Given the description of an element on the screen output the (x, y) to click on. 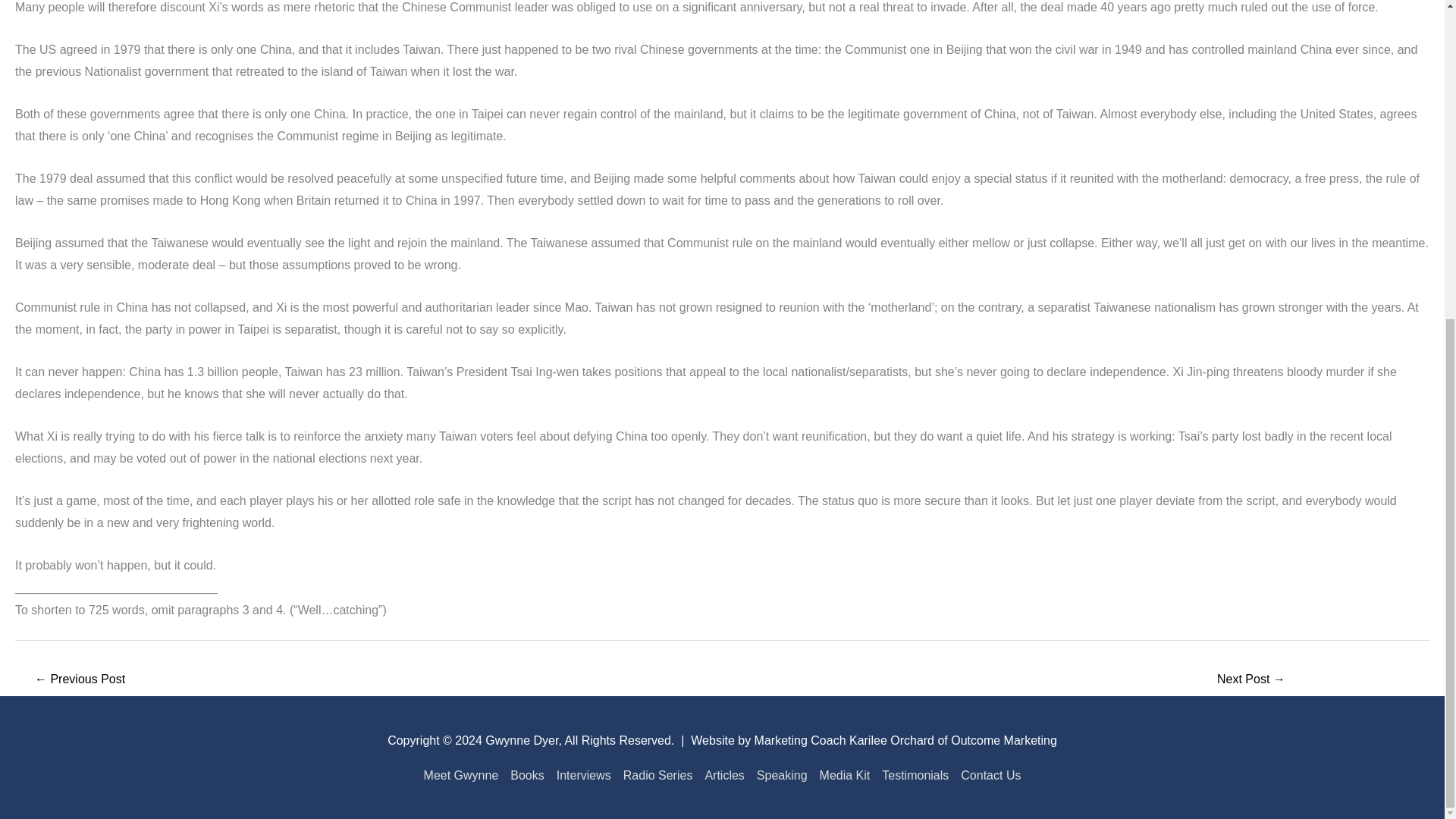
Meet Gwynne (464, 775)
Bangladesh: End of Democracy (79, 680)
Orthodoxy: the New Great Schism (1251, 680)
Contact Us (987, 775)
Testimonials (915, 775)
Speaking (782, 775)
Articles (723, 775)
Media Kit (844, 775)
Interviews (583, 775)
Books (526, 775)
